Given the description of an element on the screen output the (x, y) to click on. 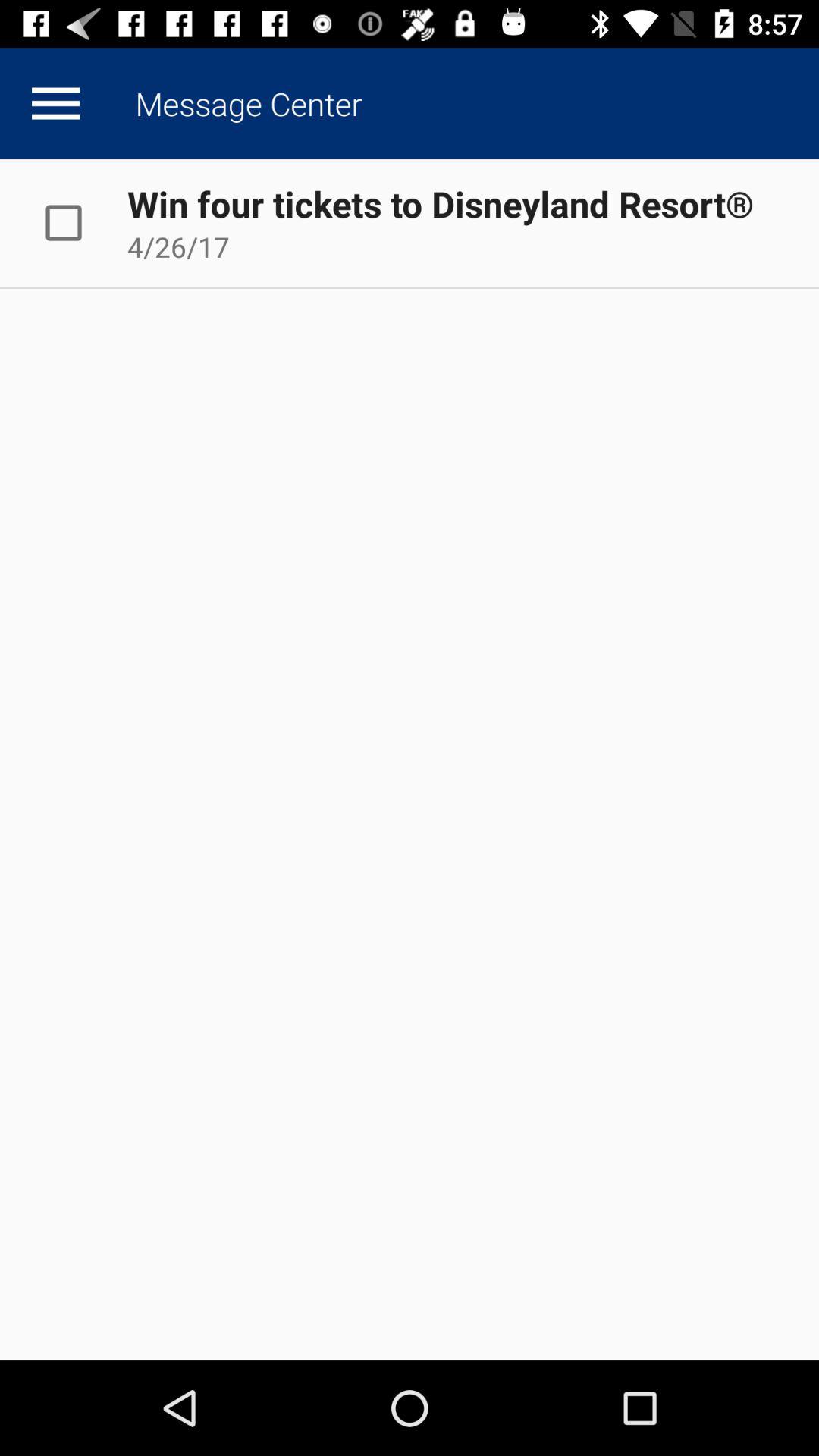
select message (79, 222)
